Given the description of an element on the screen output the (x, y) to click on. 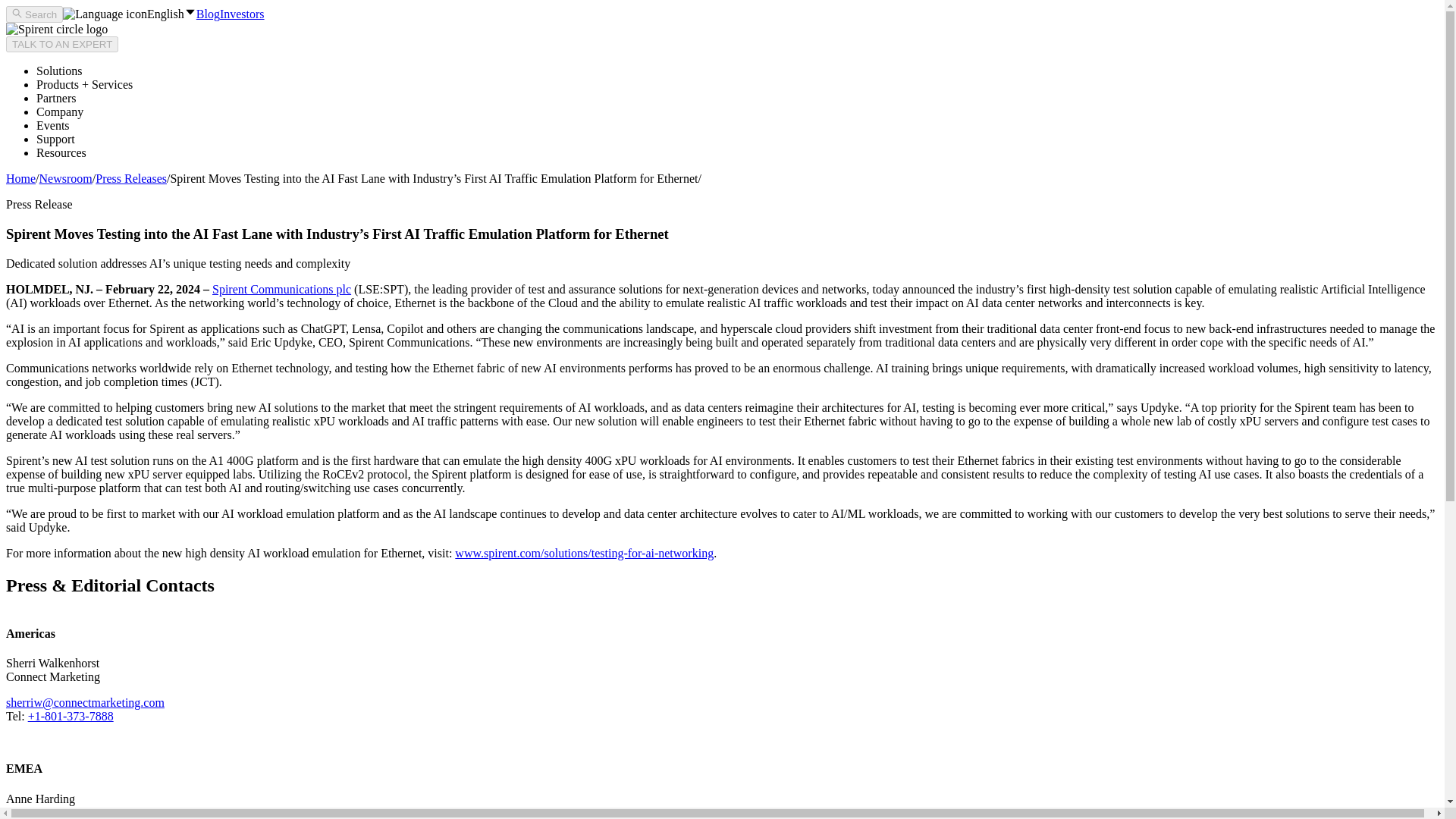
Home (19, 178)
Solutions (58, 70)
Blog (207, 13)
Partners (55, 97)
TALK TO AN EXPERT (61, 44)
Support (55, 138)
Events (52, 124)
Investors (241, 13)
Newsroom (66, 178)
Search (33, 13)
English (129, 13)
Press Releases (131, 178)
Spirent Communications plc (281, 288)
Company (59, 111)
Resources (60, 152)
